Given the description of an element on the screen output the (x, y) to click on. 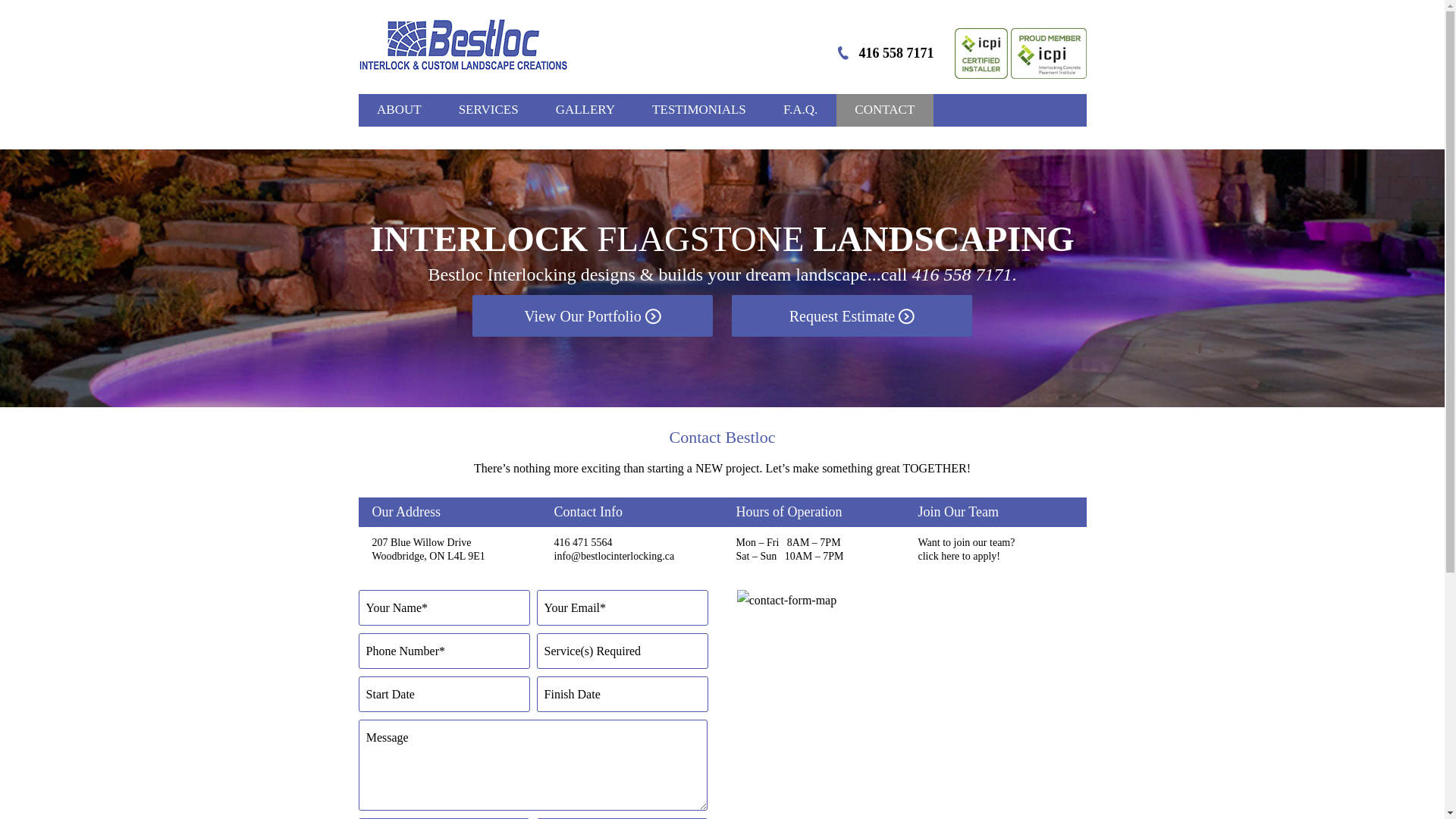
ABOUT Element type: text (398, 110)
SERVICES Element type: text (487, 110)
GALLERY Element type: text (584, 110)
Request Estimate Element type: text (851, 315)
TESTIMONIALS Element type: text (699, 110)
info@bestlocinterlocking.ca Element type: text (613, 555)
CONTACT Element type: text (884, 110)
click here to apply! Element type: text (958, 555)
Skip to content Element type: text (758, 101)
416 558 7171 Element type: text (961, 274)
View Our Portfolio Element type: text (592, 315)
F.A.Q. Element type: text (799, 110)
